Given the description of an element on the screen output the (x, y) to click on. 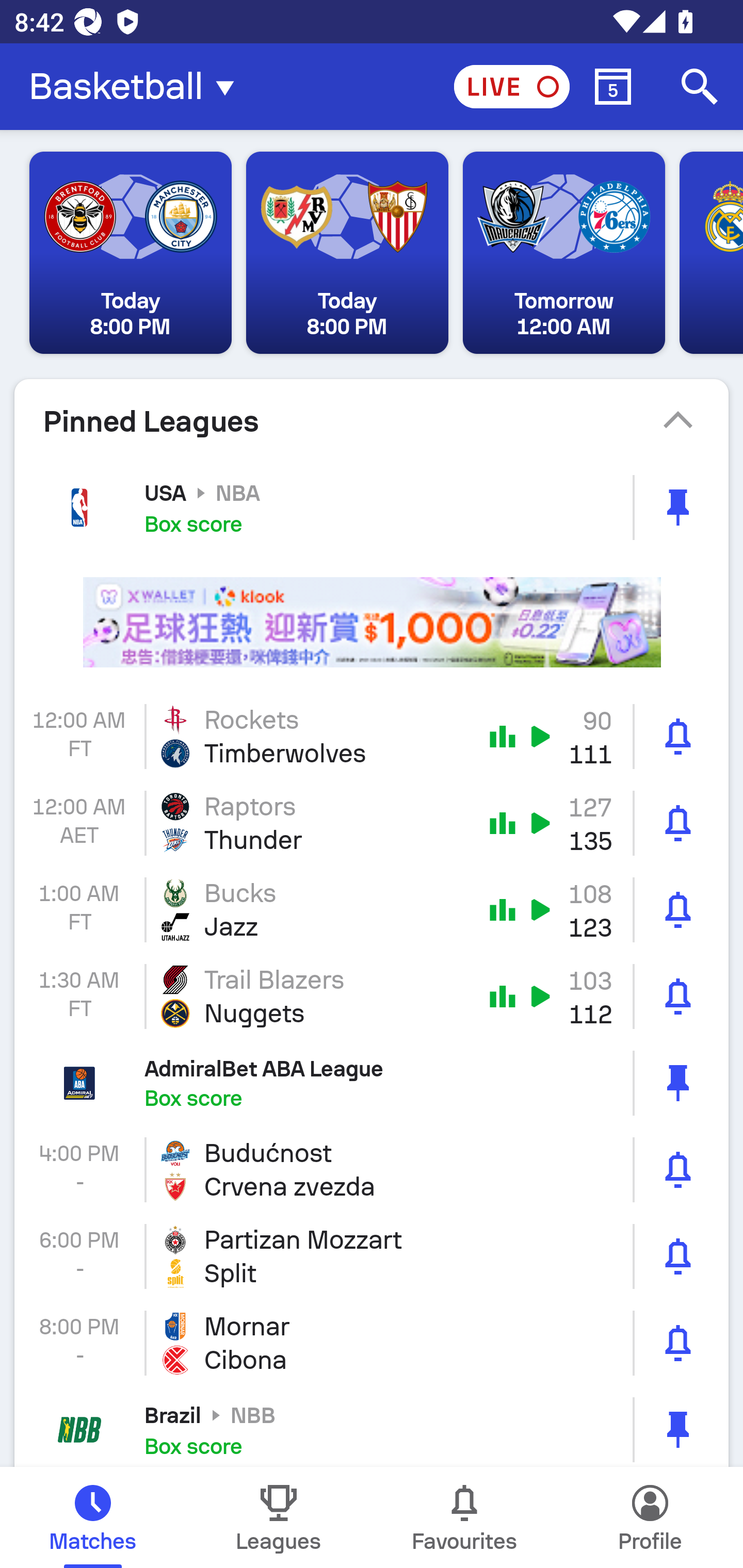
Basketball (137, 86)
Calendar (612, 86)
Search (699, 86)
Today
8:00 PM (130, 253)
Today
8:00 PM (346, 253)
Tomorrow
12:00 AM (563, 253)
Pinned Leagues (371, 421)
USA NBA Box score (371, 507)
Advertisement (371, 621)
12:00 AM FT Rockets Timberwolves 111 90 (371, 736)
12:00 AM AET Raptors Thunder 127 135 (371, 823)
1:00 AM FT Bucks Jazz 108 123 (371, 910)
1:30 AM FT Trail Blazers Nuggets 103 112 (371, 996)
AdmiralBet ABA League Box score (371, 1082)
4:00 PM - Budućnost Crvena zvezda (371, 1169)
6:00 PM - Partizan Mozzart Split (371, 1256)
8:00 PM - Mornar Cibona (371, 1342)
Brazil NBB Box score (371, 1426)
Leagues (278, 1517)
Favourites (464, 1517)
Profile (650, 1517)
